Given the description of an element on the screen output the (x, y) to click on. 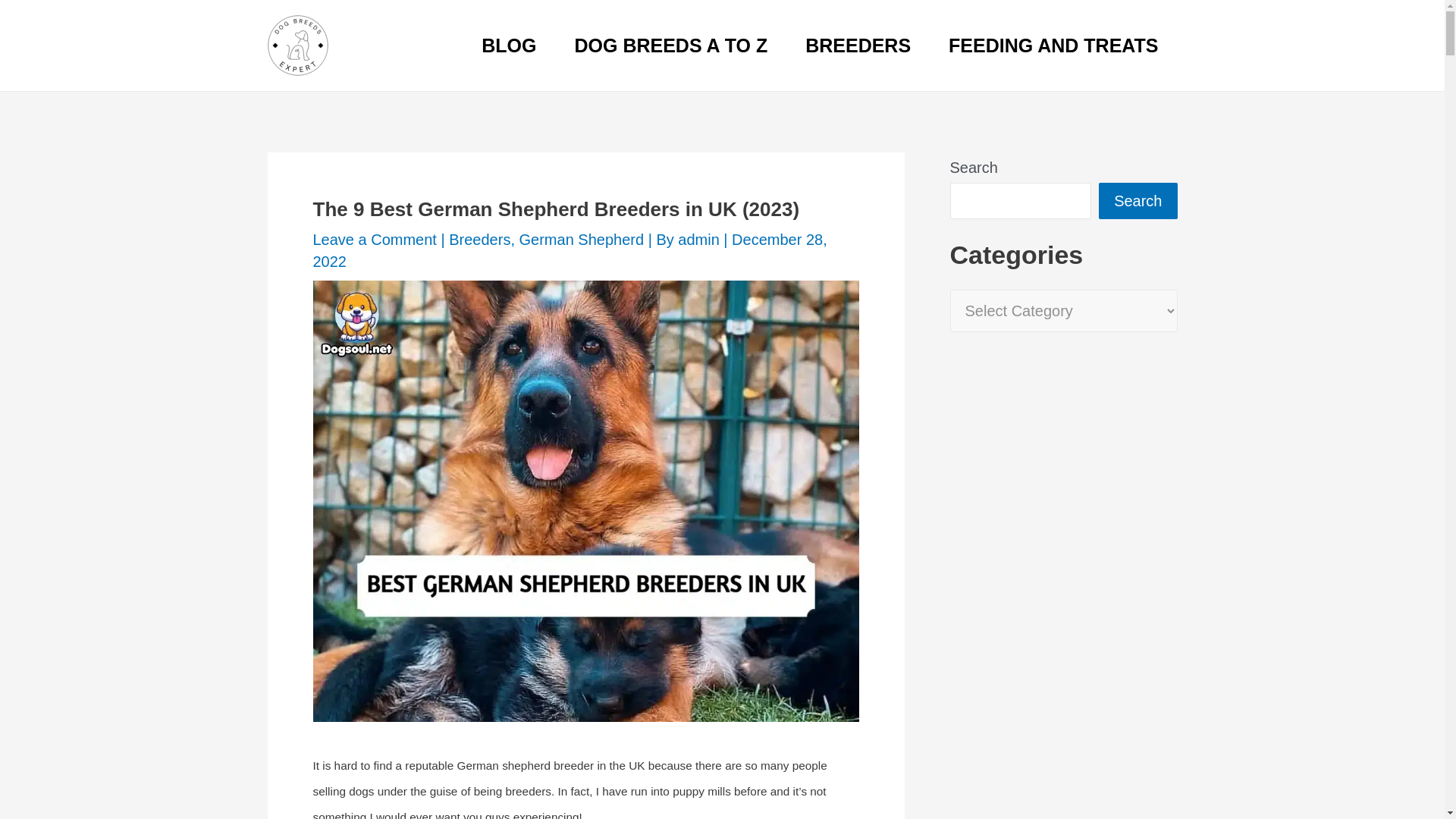
Breeders (479, 239)
View all posts by admin (700, 239)
admin (700, 239)
DOG BREEDS A TO Z (671, 45)
BLOG (508, 45)
German Shepherd (582, 239)
FEEDING AND TREATS (1053, 45)
Leave a Comment (374, 239)
BREEDERS (858, 45)
